Given the description of an element on the screen output the (x, y) to click on. 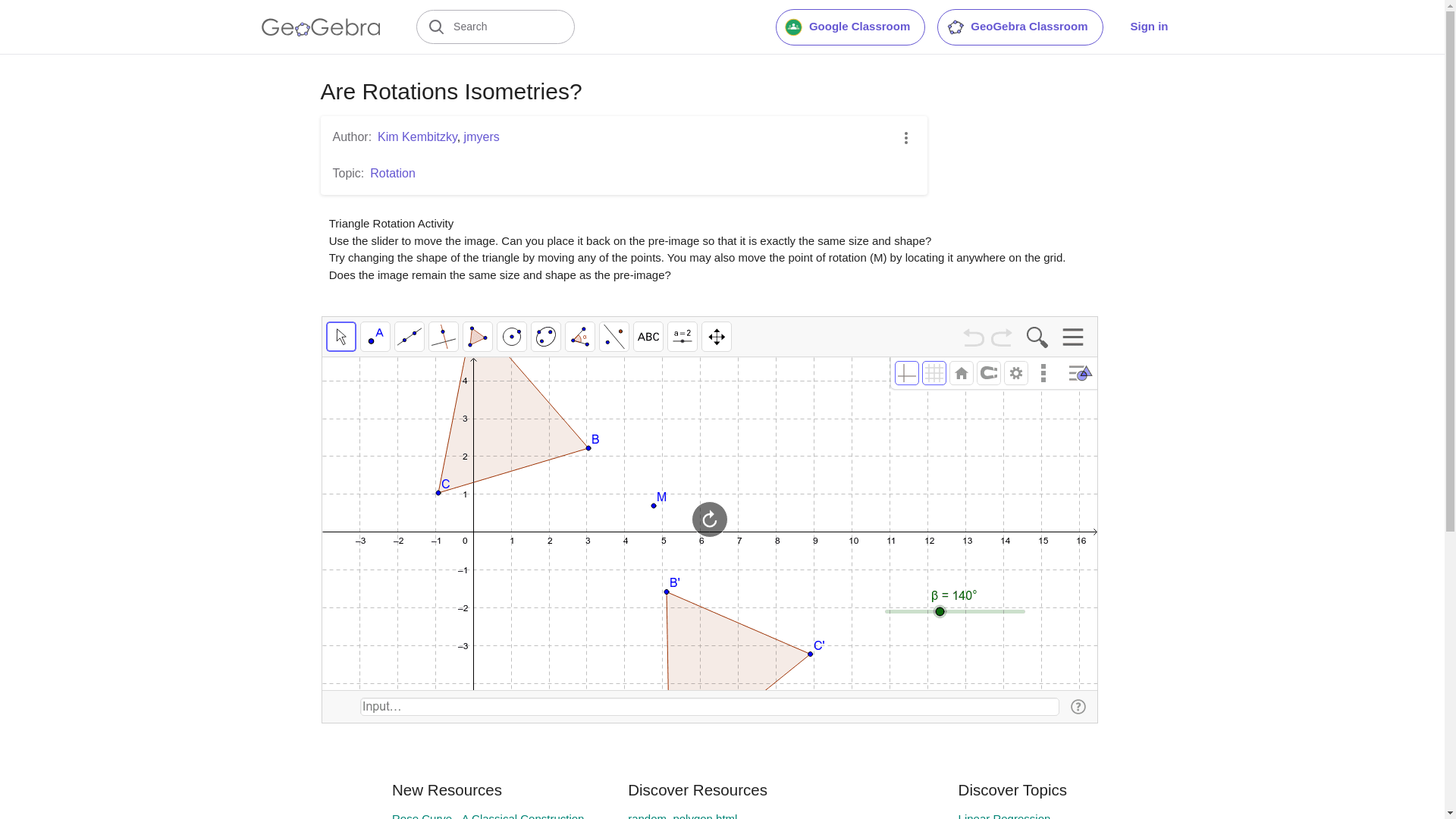
Rose Curve - A Classical Construction (487, 815)
GeoGebra Classroom (1019, 27)
Linear Regression (1004, 815)
Rotation (391, 173)
jmyers (481, 136)
Kim Kembitzky (417, 136)
Sign in (1148, 27)
Google Classroom (850, 27)
